Given the description of an element on the screen output the (x, y) to click on. 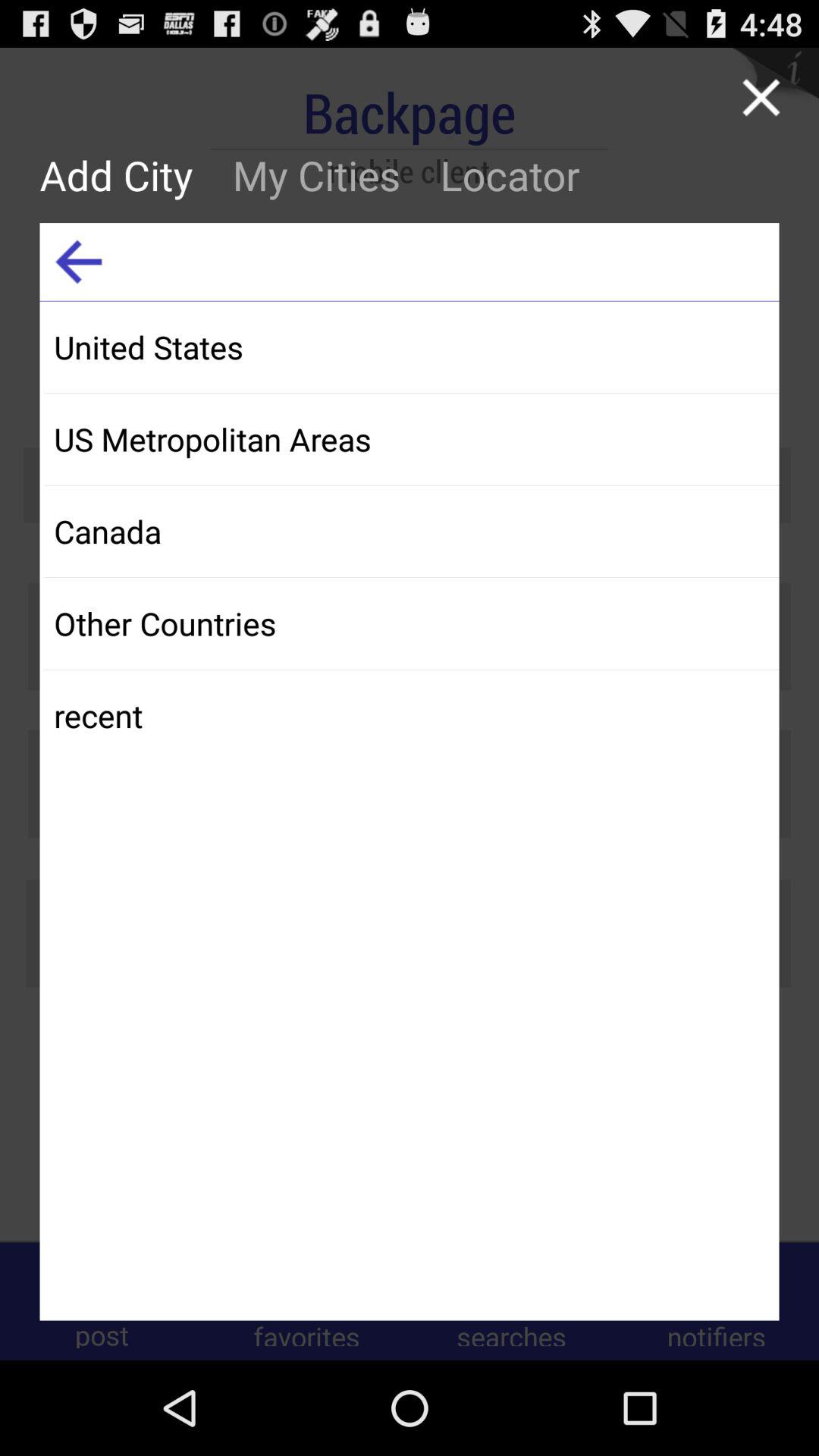
click the item next to the my cities (78, 261)
